Given the description of an element on the screen output the (x, y) to click on. 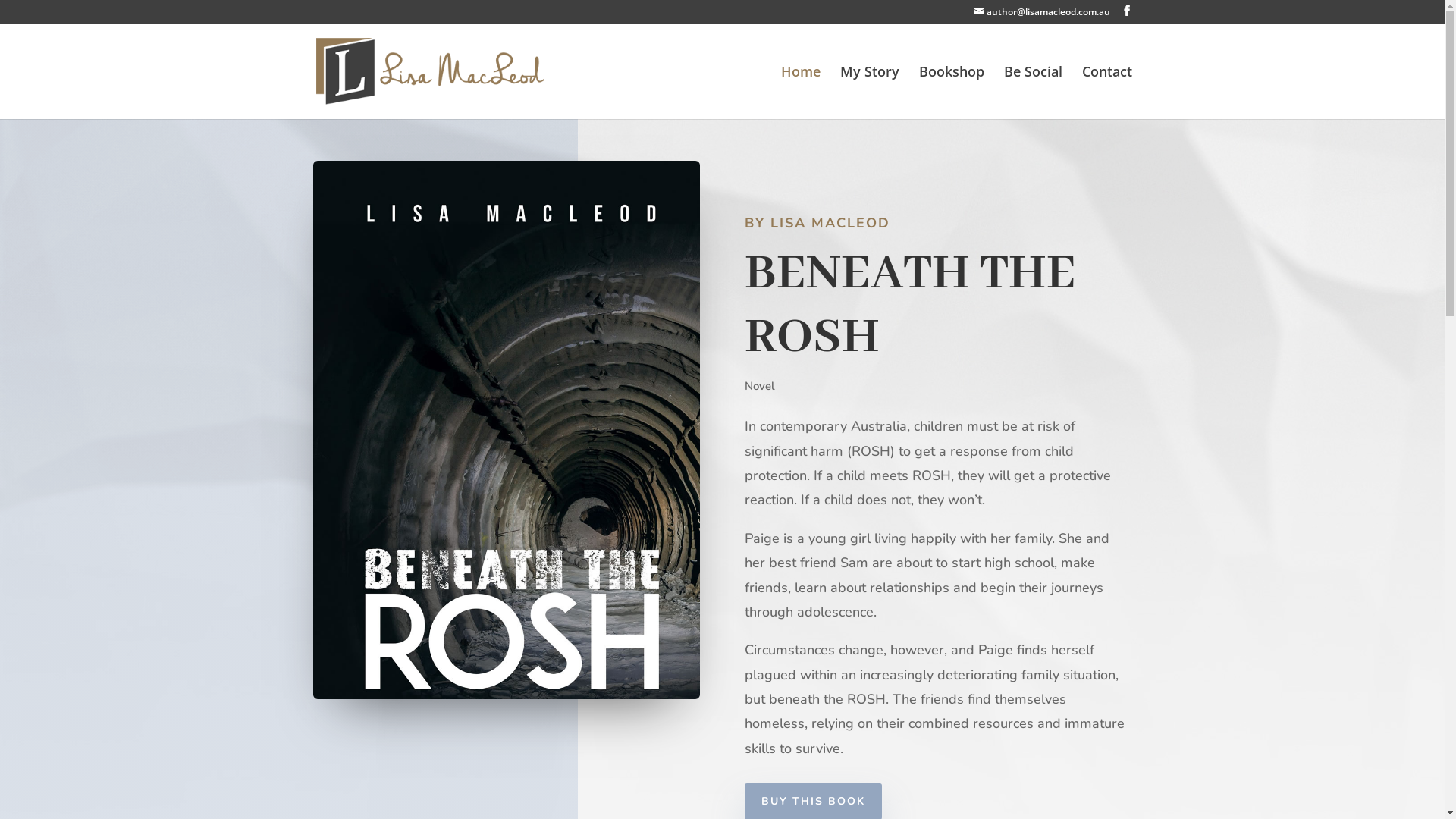
Bookshop Element type: text (951, 92)
Contact Element type: text (1106, 92)
Be Social Element type: text (1033, 92)
My Story Element type: text (869, 92)
Home Element type: text (800, 92)
author@lisamacleod.com.au Element type: text (1041, 11)
